Given the description of an element on the screen output the (x, y) to click on. 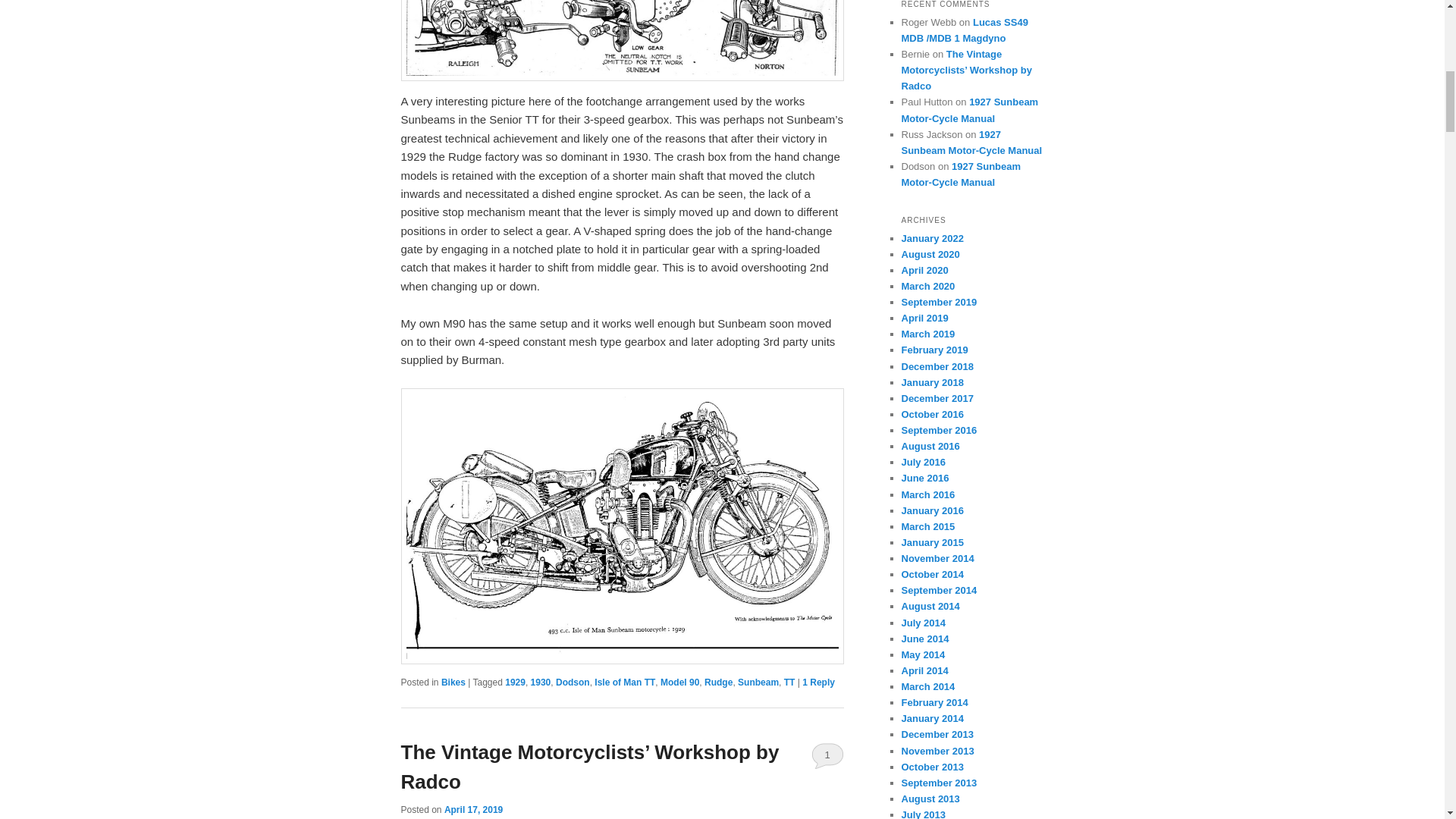
Sunbeam (758, 682)
Bikes (453, 682)
Isle of Man TT (624, 682)
April 17, 2019 (473, 809)
1 Reply (818, 682)
1 (827, 755)
1930 (541, 682)
5:40 pm (473, 809)
Rudge (718, 682)
Dodson (572, 682)
TT (789, 682)
1929 (515, 682)
Model 90 (679, 682)
